Given the description of an element on the screen output the (x, y) to click on. 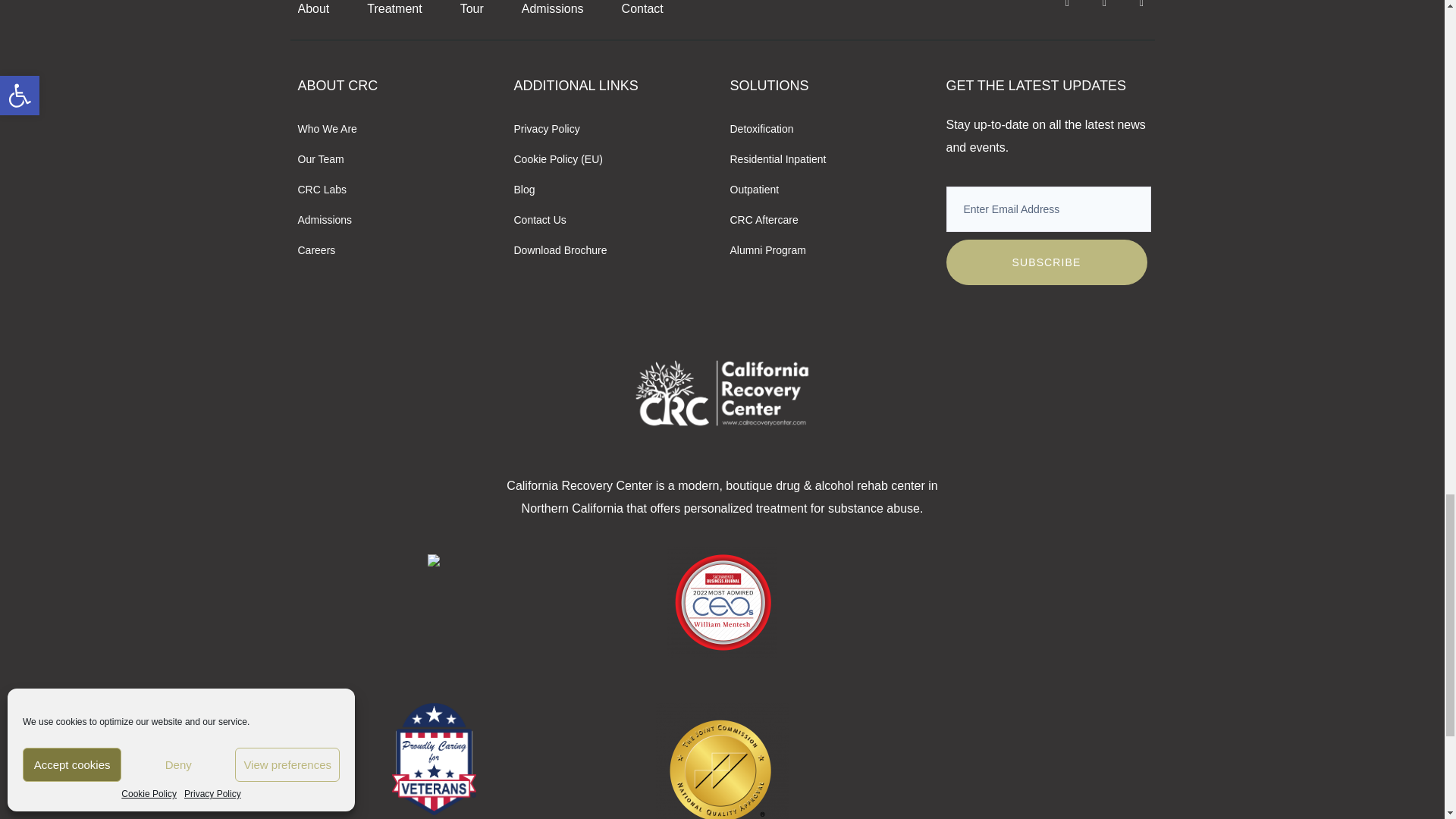
MACEO badge (721, 602)
The Joint Commision Emblem (722, 760)
